Given the description of an element on the screen output the (x, y) to click on. 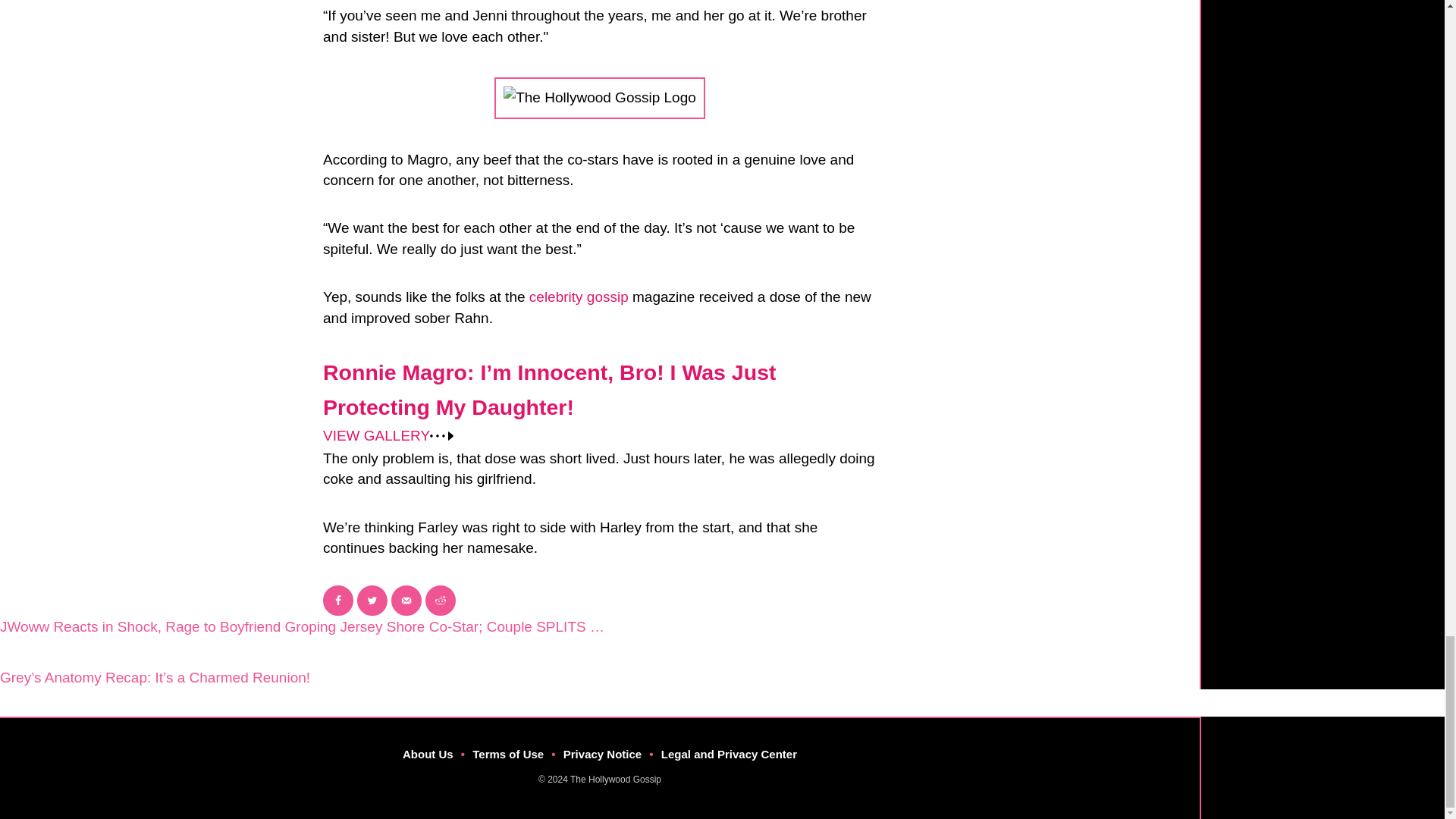
Send over email (406, 600)
Share on Twitter (371, 600)
Share on Facebook (338, 600)
Share on Reddit (440, 600)
